Given the description of an element on the screen output the (x, y) to click on. 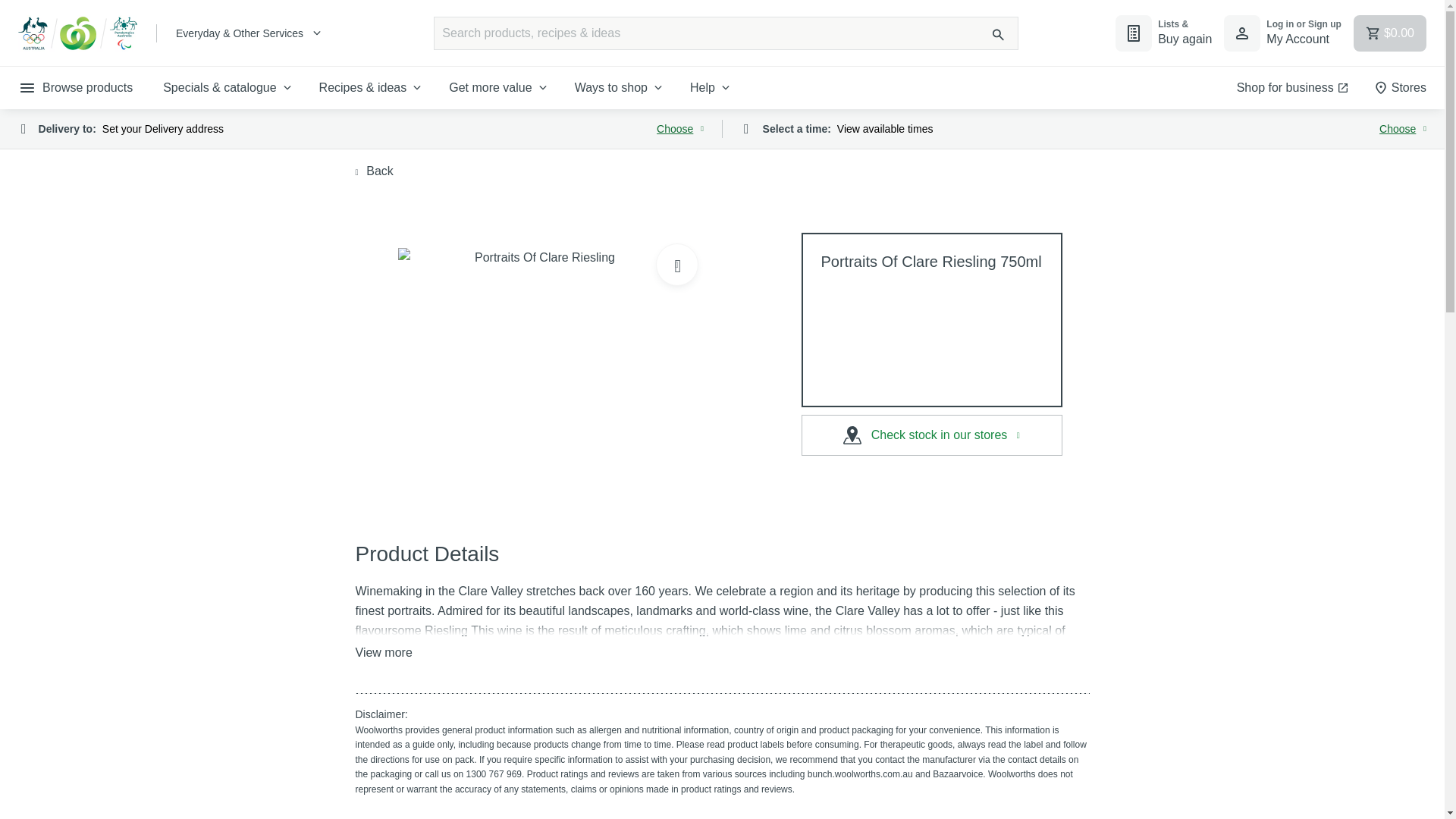
Shop for business (1292, 87)
Ways to shop (620, 87)
Check stock in our stores (930, 434)
Get more value (499, 87)
Help (711, 87)
Search (997, 34)
Browse products (75, 87)
Back (374, 171)
Stores (1399, 87)
